Given the description of an element on the screen output the (x, y) to click on. 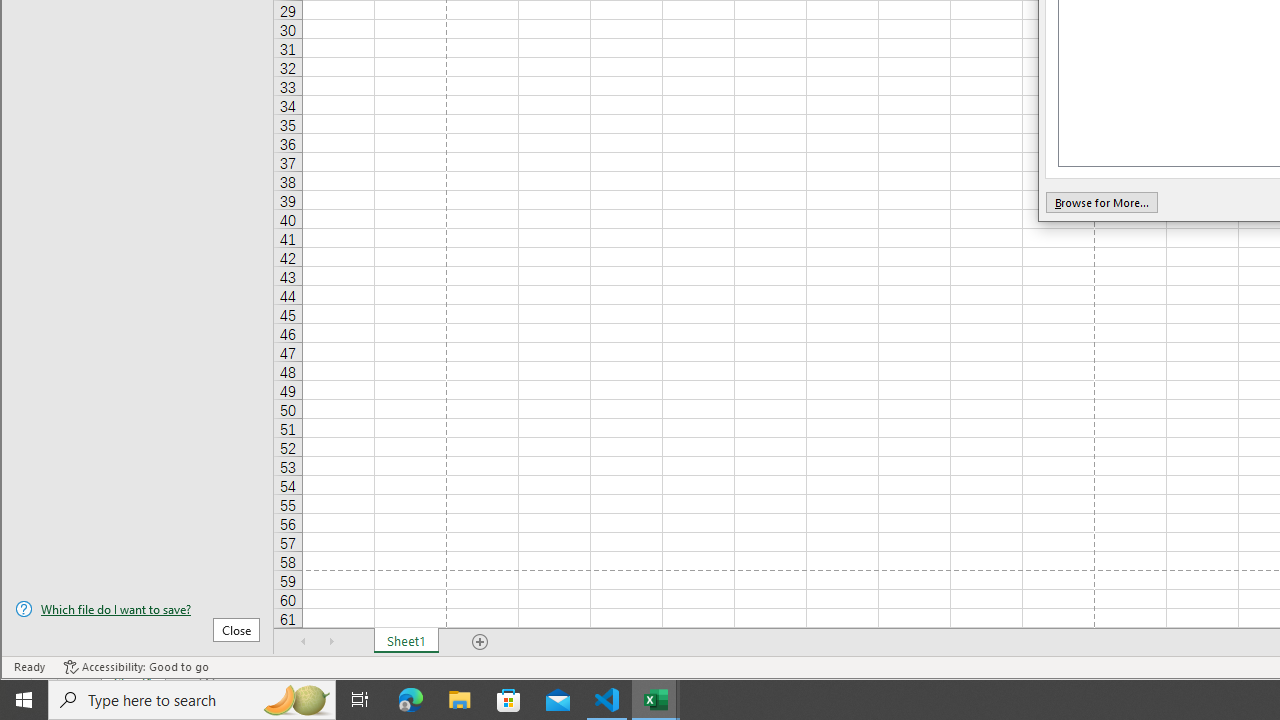
File Explorer (460, 699)
Microsoft Store (509, 699)
Accessibility Checker Accessibility: Good to go (136, 667)
Microsoft Edge (411, 699)
Which file do I want to save? (137, 609)
Scroll Left (303, 641)
Visual Studio Code - 1 running window (607, 699)
Scroll Right (331, 641)
Sheet1 (406, 641)
Add Sheet (481, 641)
Start (24, 699)
Browse for More... (1101, 201)
Task View (359, 699)
Close (235, 629)
